Given the description of an element on the screen output the (x, y) to click on. 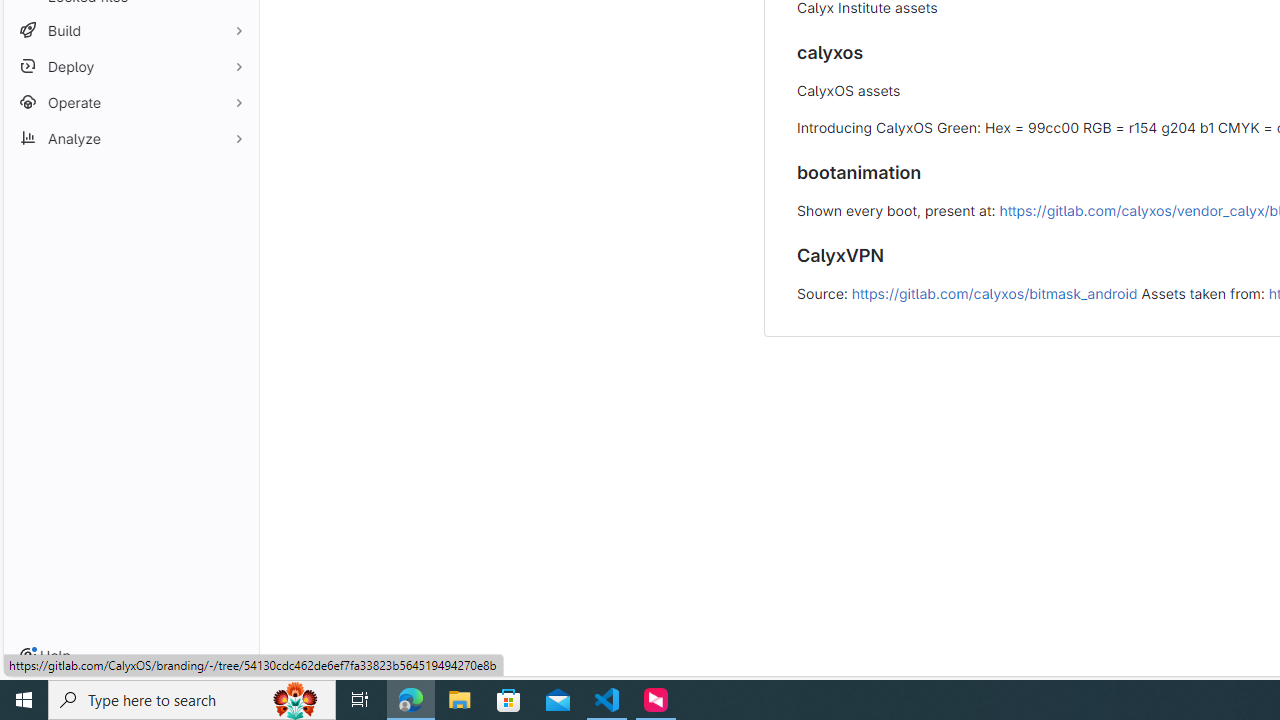
Help (45, 655)
Analyze (130, 137)
Operate (130, 101)
Deploy (130, 65)
Analyze (130, 137)
Build (130, 29)
Deploy (130, 65)
Operate (130, 101)
https://gitlab.com/calyxos/bitmask_android (994, 292)
Build (130, 29)
